Given the description of an element on the screen output the (x, y) to click on. 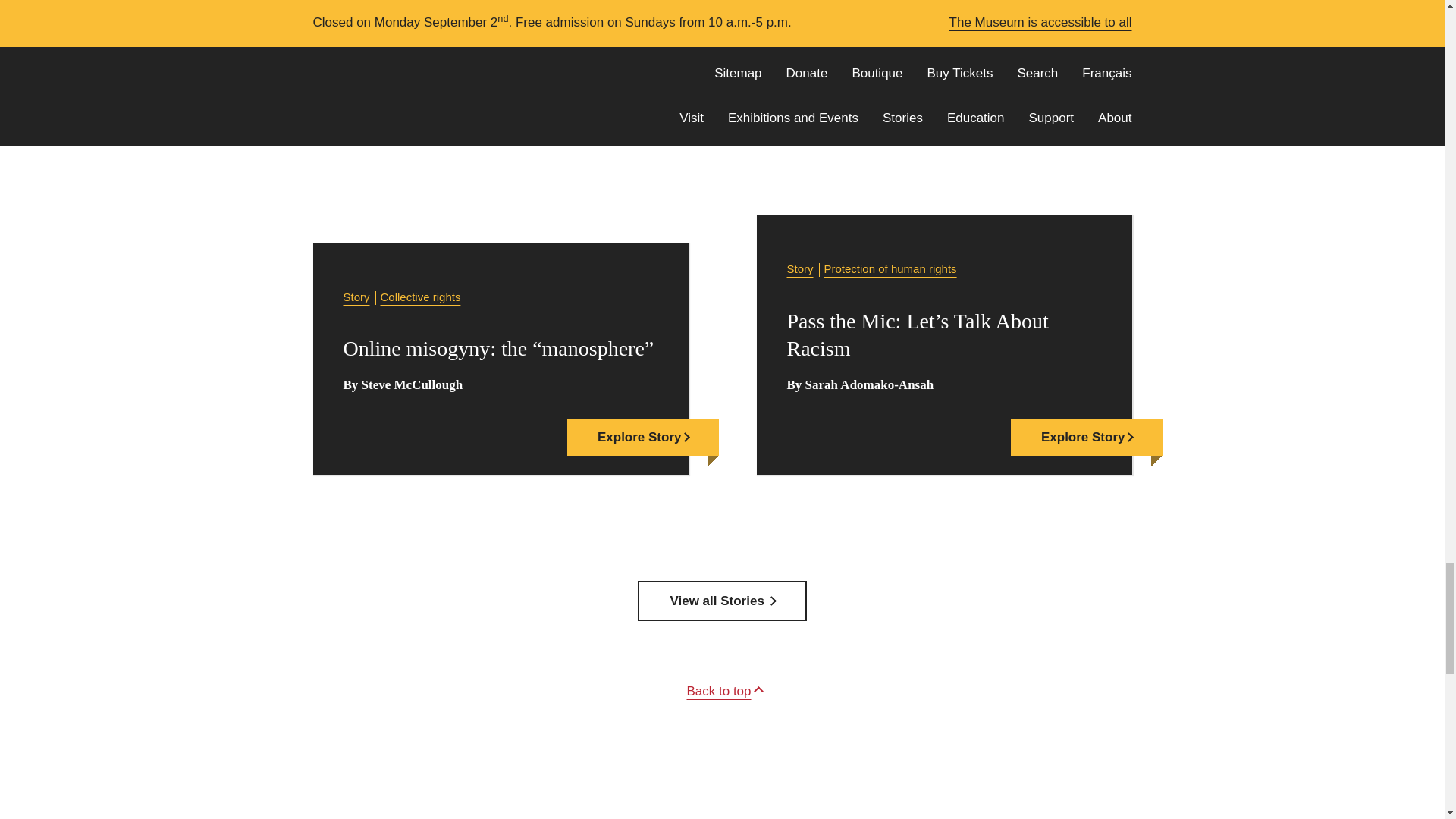
facebook (845, 391)
X (748, 391)
youtube (893, 391)
Canadian Museum for Human Rights (377, 716)
instagram (797, 391)
